Given the description of an element on the screen output the (x, y) to click on. 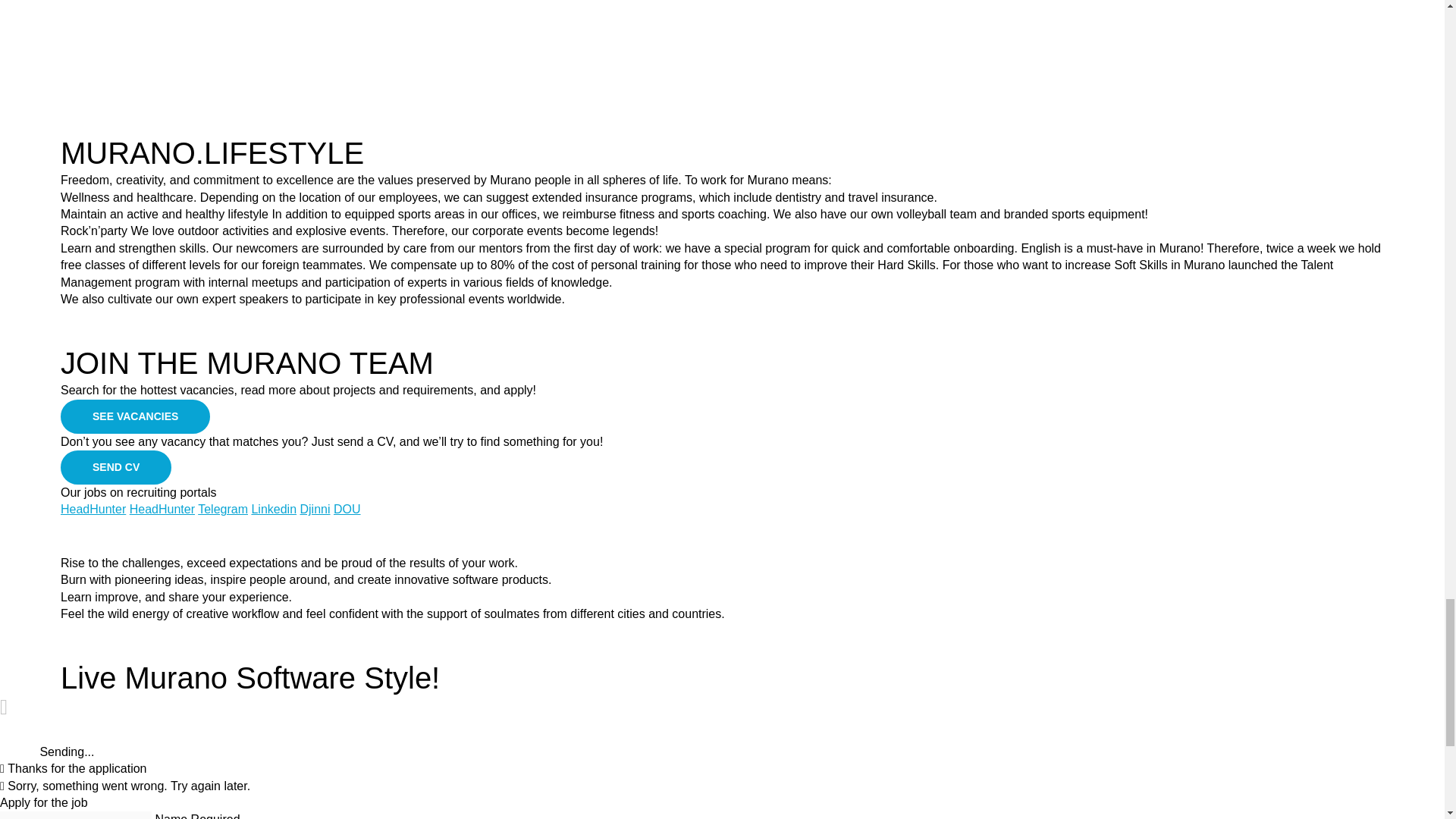
SEND CV (116, 467)
Linkedin (273, 508)
HeadHunter (93, 508)
Telegram (222, 508)
Djinni (314, 508)
SEE VACANCIES (135, 416)
HeadHunter (162, 508)
DOU (347, 508)
